Given the description of an element on the screen output the (x, y) to click on. 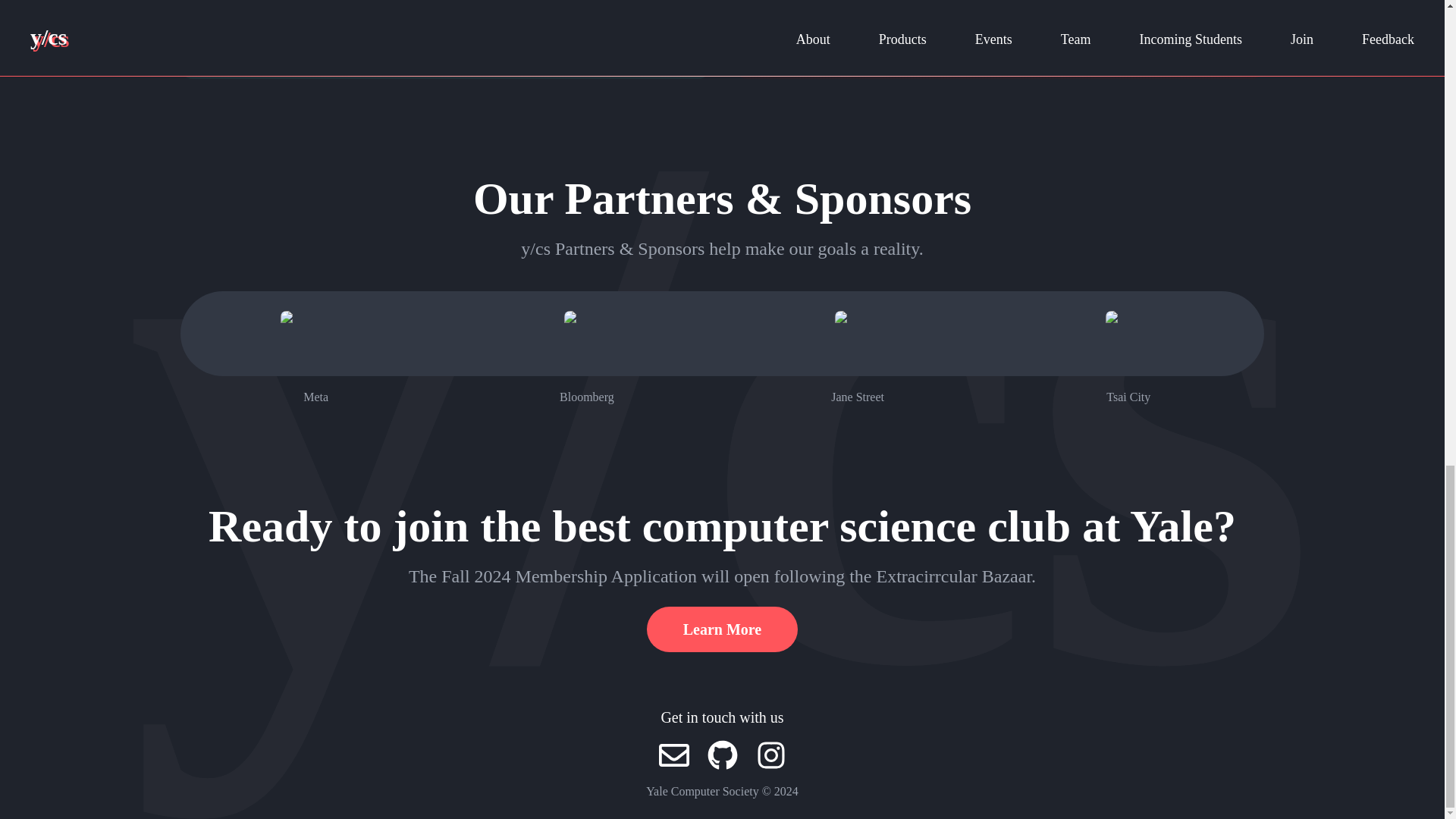
Learn More (721, 628)
